Given the description of an element on the screen output the (x, y) to click on. 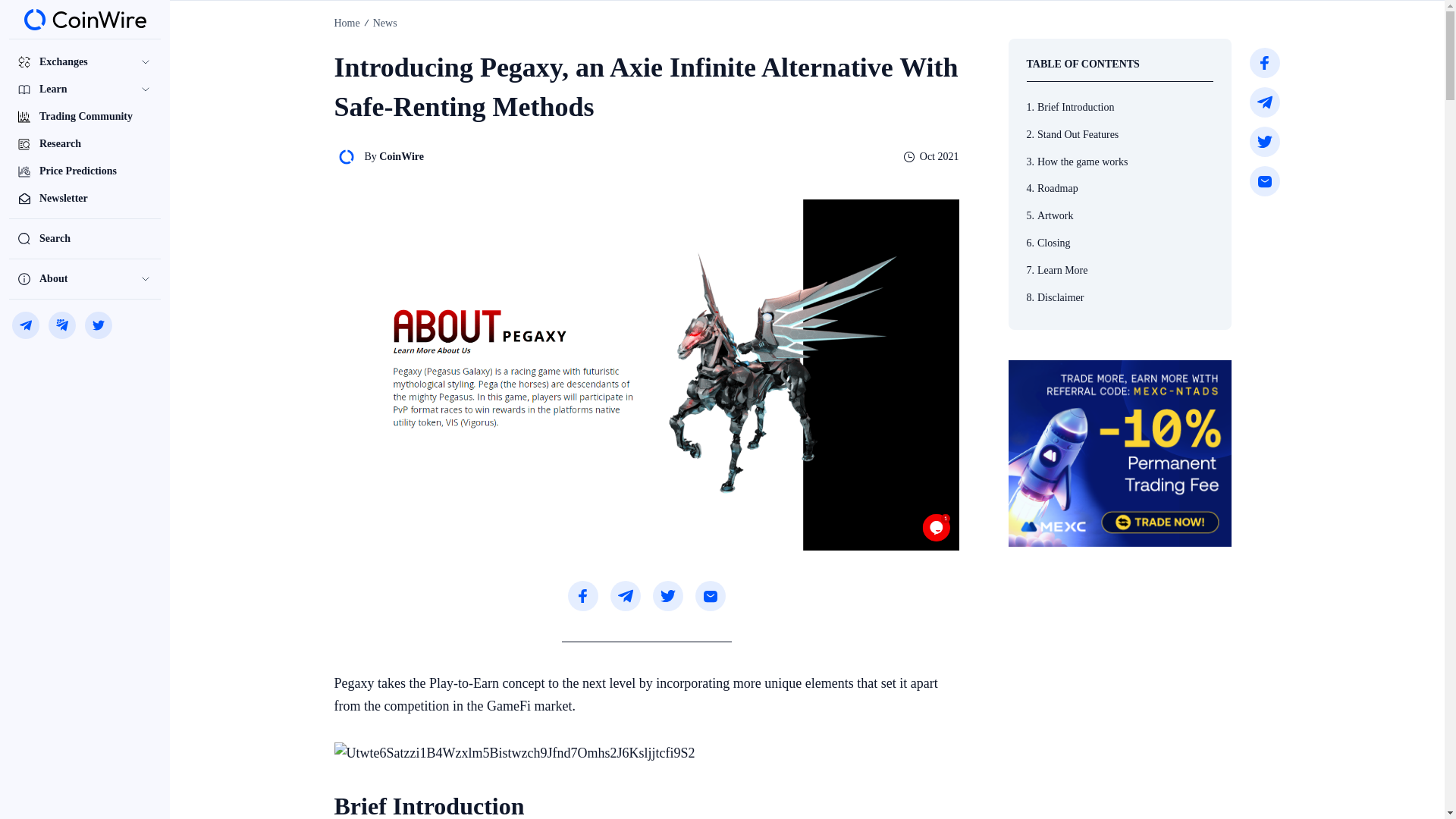
Learn (84, 89)
Search (84, 238)
About (84, 278)
Learn More (1120, 270)
Disclaimer (1120, 298)
Artwork (1120, 216)
Brief Introduction (1120, 107)
Trading Community (84, 116)
